Given the description of an element on the screen output the (x, y) to click on. 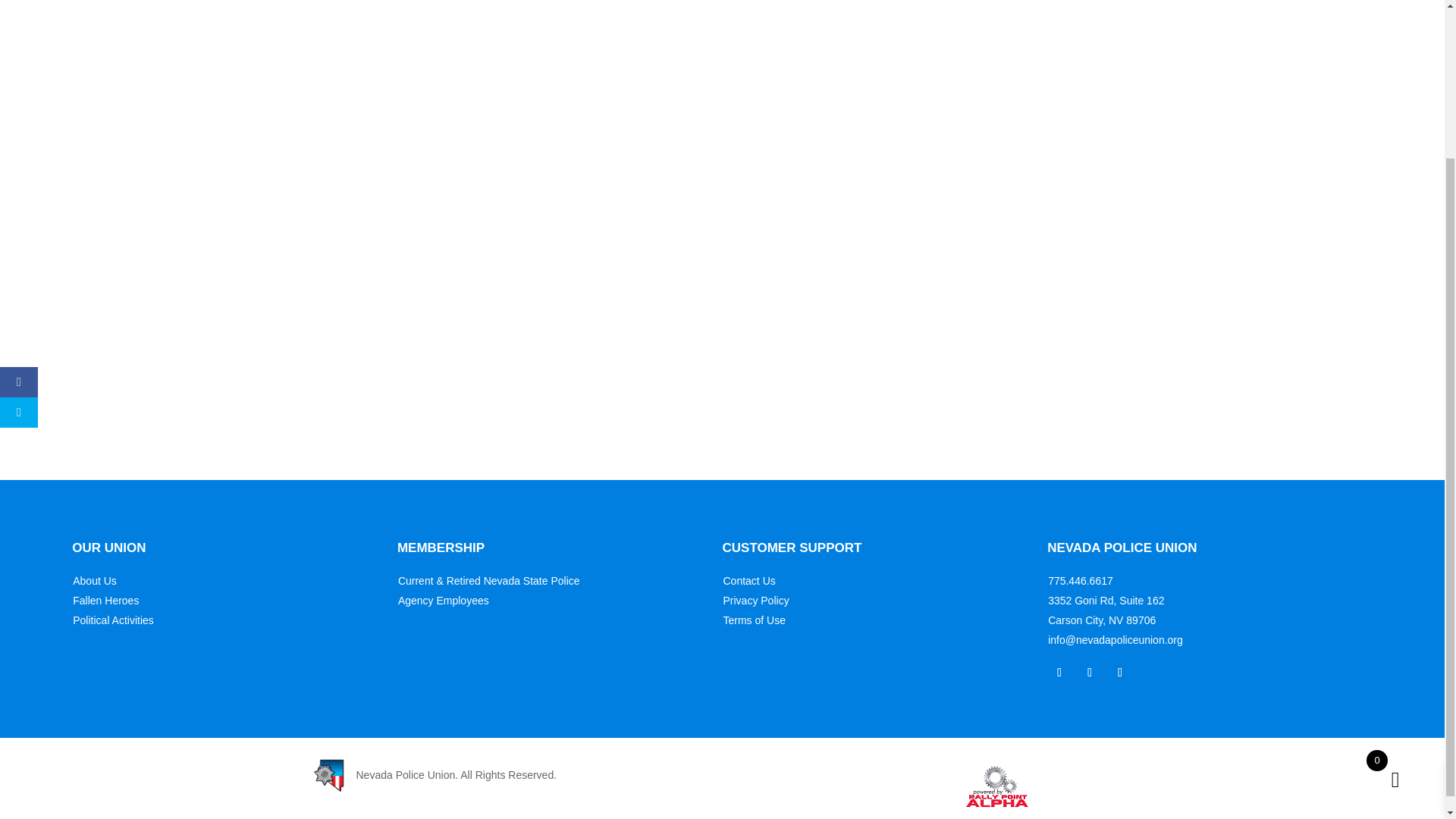
Fallen Heroes (105, 600)
Terms of Use (754, 620)
PoweredByLittle (998, 786)
Follow on Facebook (1058, 672)
Privacy Policy (756, 600)
Follow on Instagram (1120, 672)
216346 (822, 412)
Political Activities (113, 620)
Follow on X (1089, 672)
About Us (94, 580)
